Given the description of an element on the screen output the (x, y) to click on. 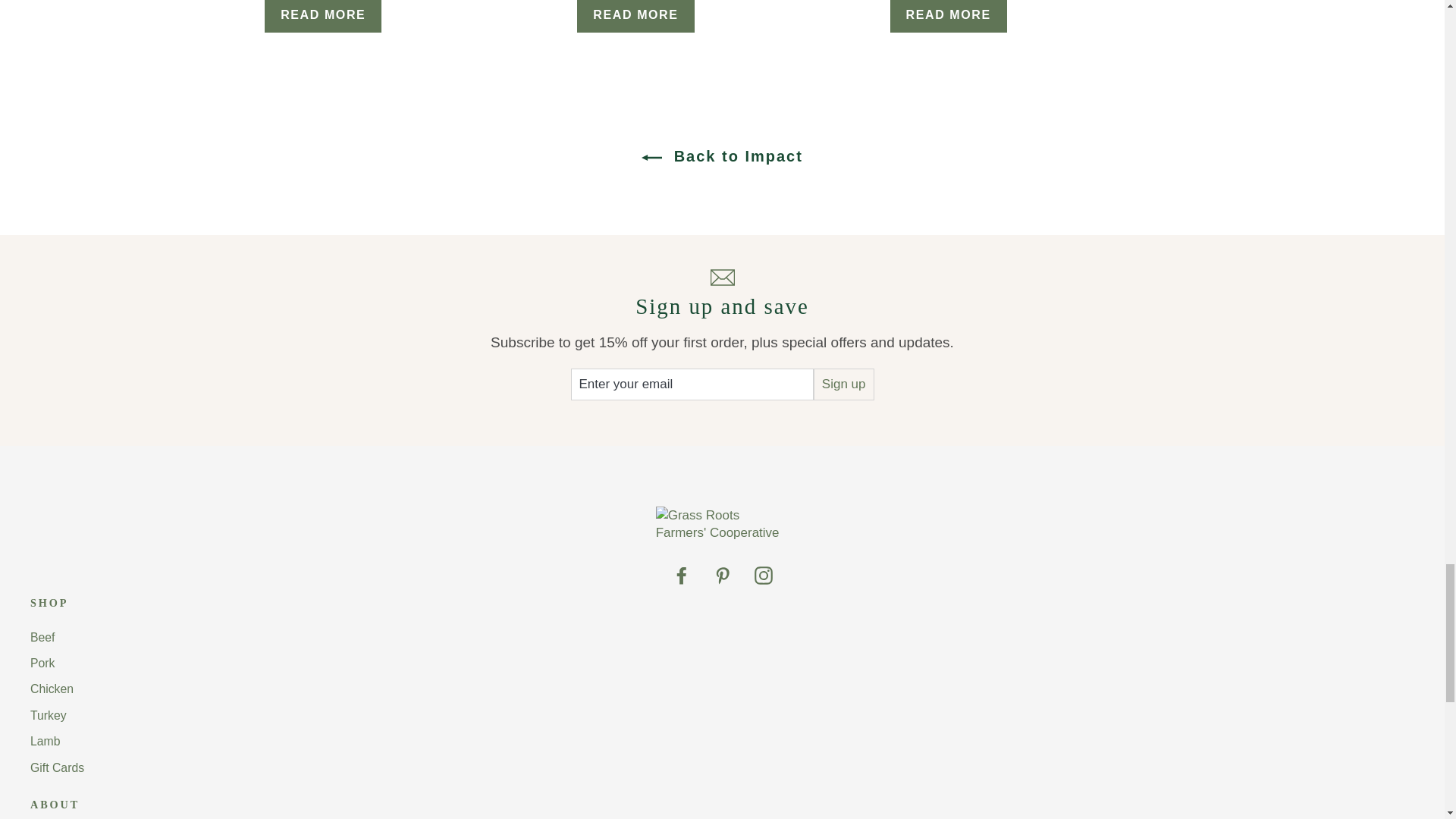
Sign up (844, 384)
Grass Roots Farmers' Cooperative on Facebook (680, 574)
Grass Roots Farmers' Cooperative on Pinterest (721, 574)
Grass Roots Farmers' Cooperative on Instagram (762, 574)
